Given the description of an element on the screen output the (x, y) to click on. 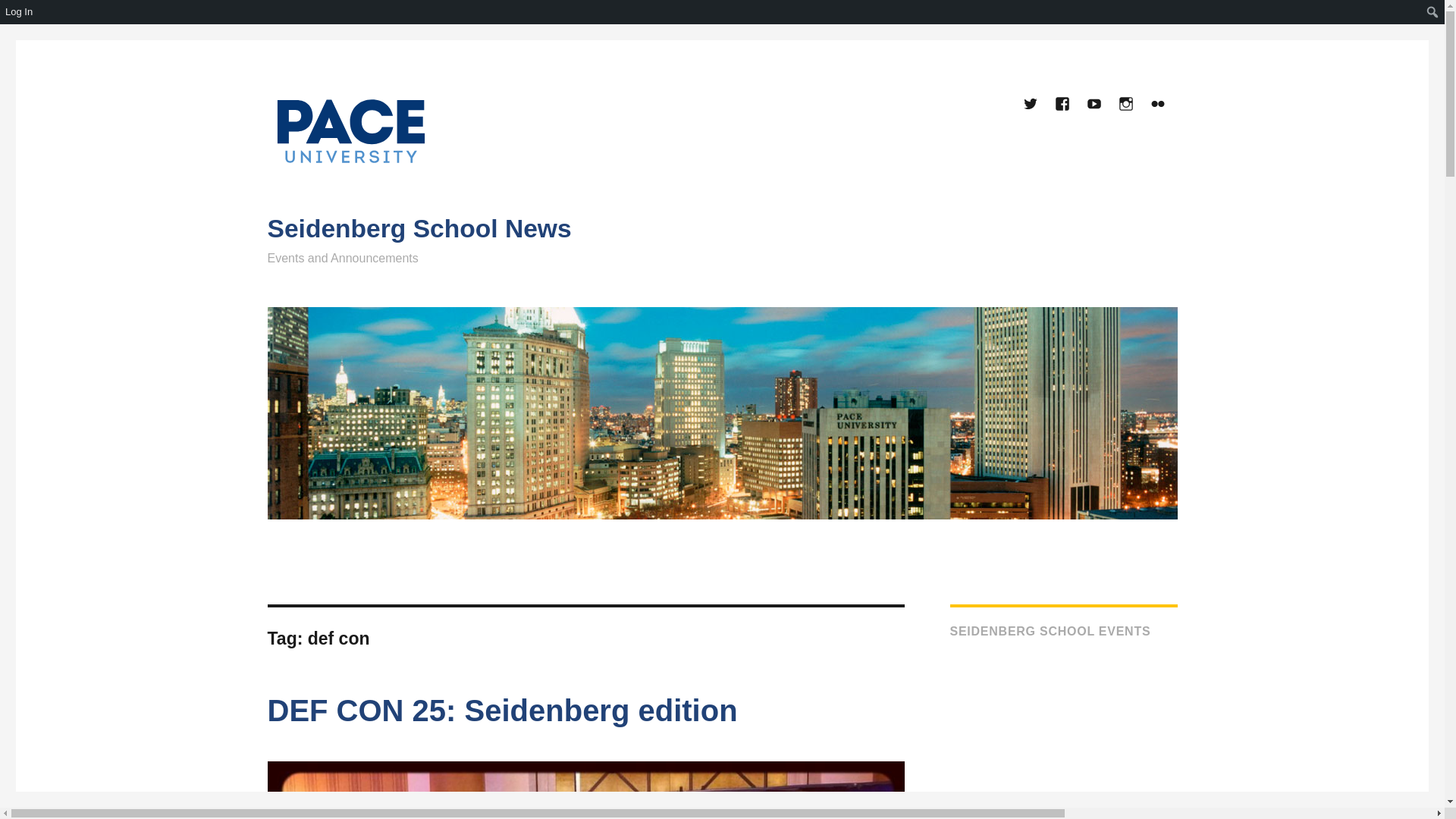
facebook (1062, 104)
DEF CON 25: Seidenberg edition (501, 710)
twitter (1030, 104)
flickr (1158, 104)
youtube (1094, 104)
instagram (1126, 104)
Seidenberg School News (418, 228)
